Given the description of an element on the screen output the (x, y) to click on. 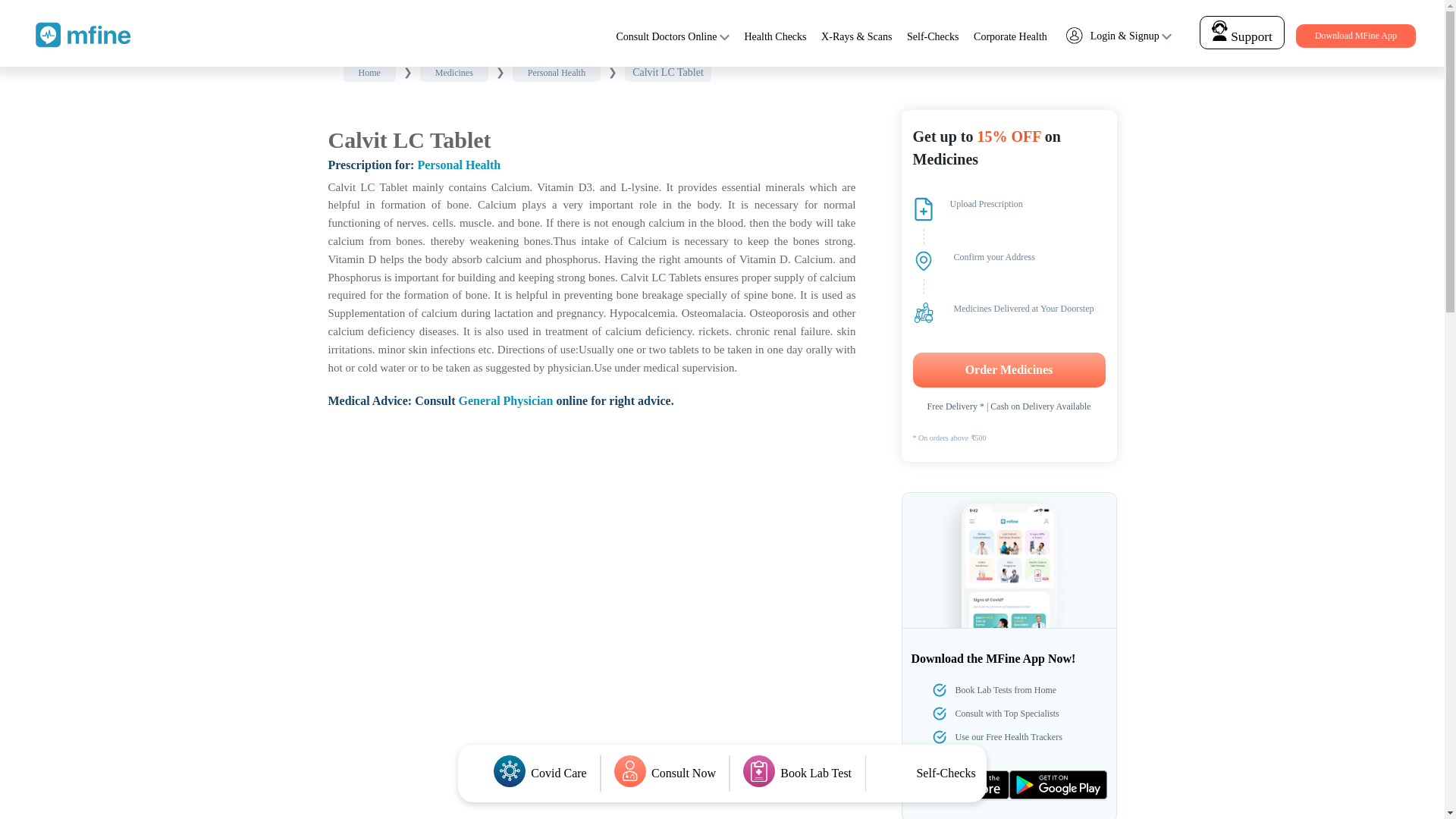
Self-Checks (932, 36)
Support (1241, 32)
Corporate Health (1010, 36)
Consult Doctors Online (665, 36)
Download MFine App (1355, 35)
Support (1241, 36)
Health Checks (775, 36)
